Given the description of an element on the screen output the (x, y) to click on. 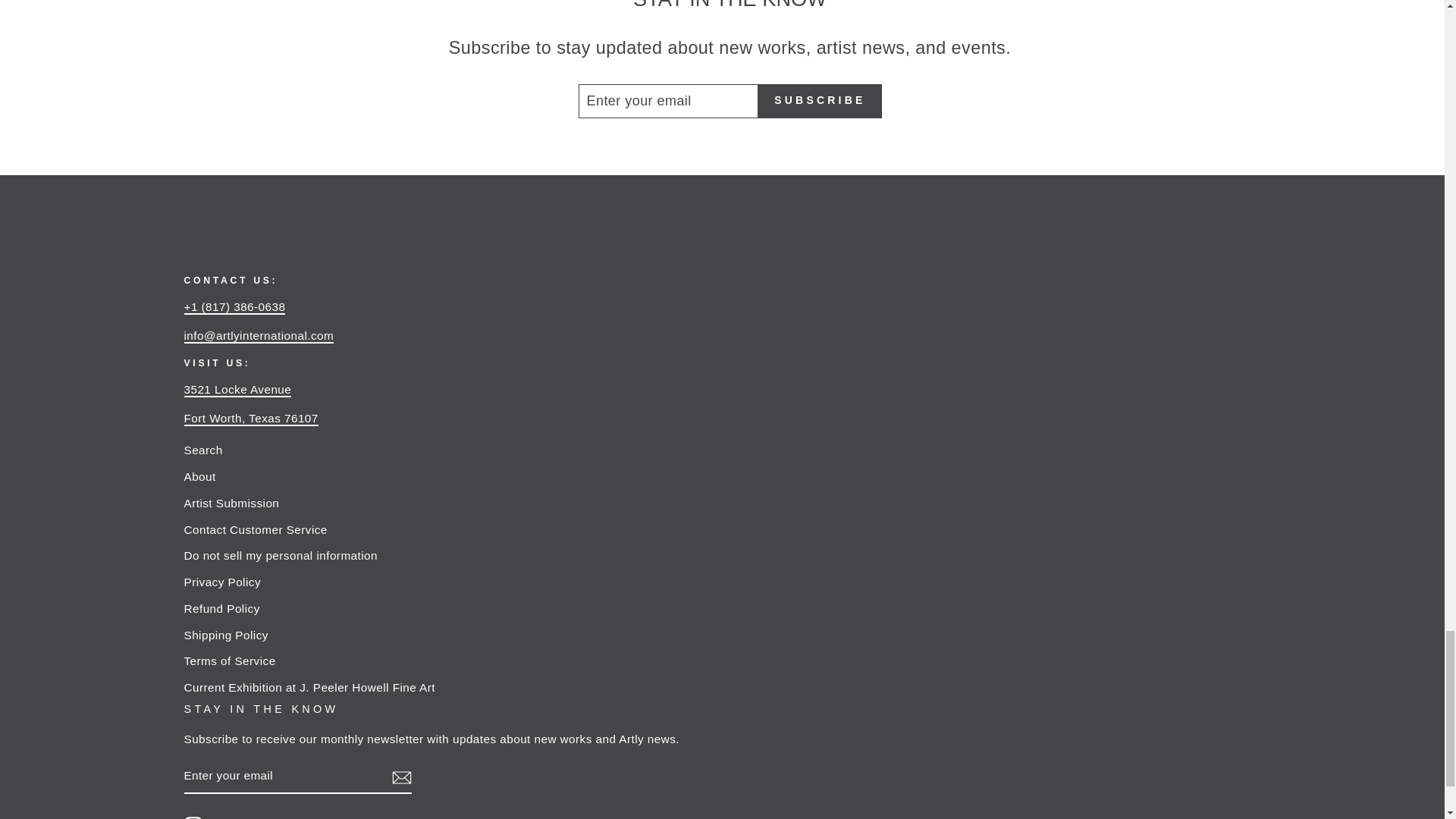
icon-email (400, 777)
Google Map to Artly International (250, 418)
Google Map to Artly International (237, 390)
Artly International on Instagram (192, 817)
instagram (192, 817)
email us (258, 336)
